Given the description of an element on the screen output the (x, y) to click on. 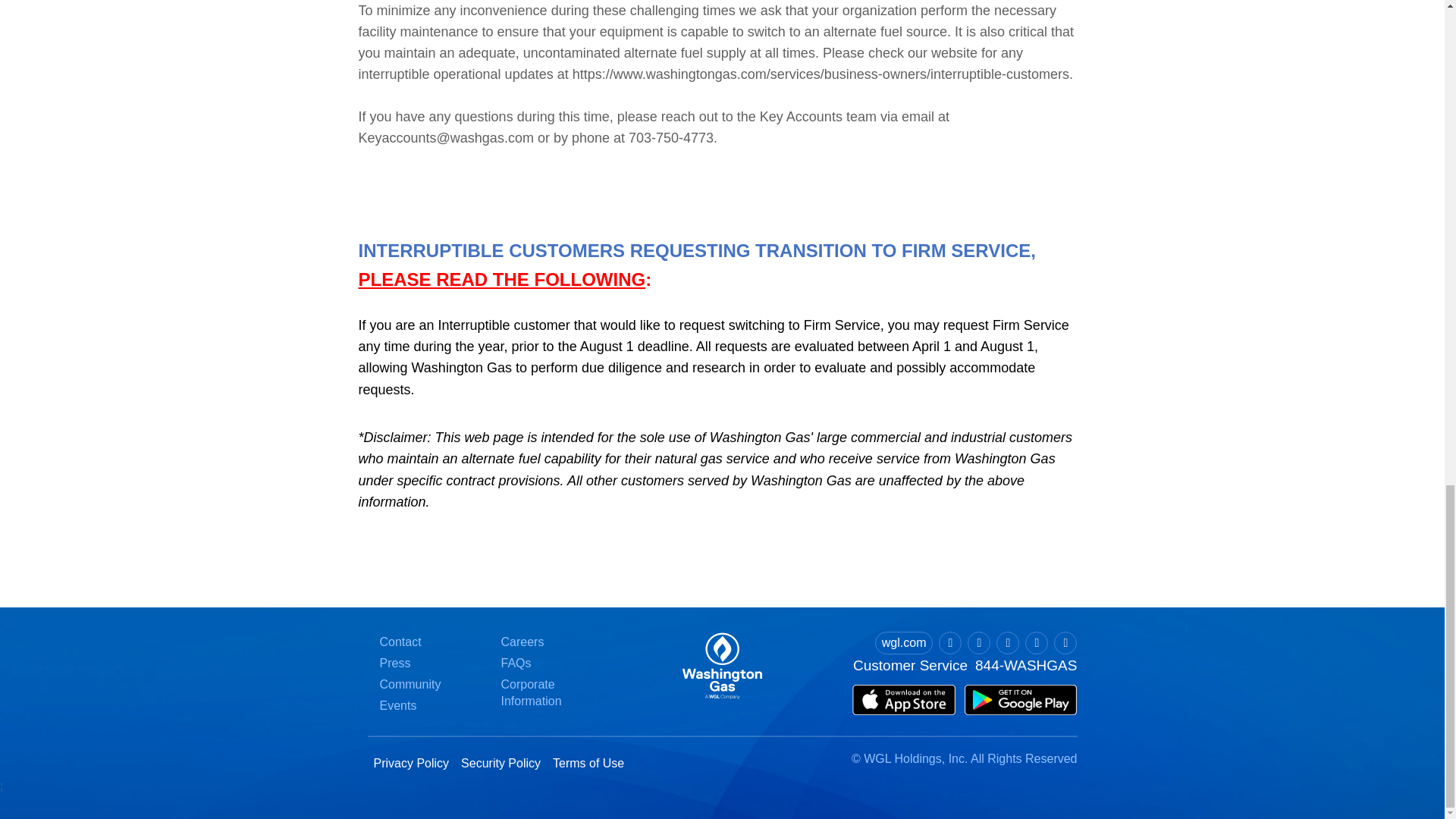
linkedin (1007, 642)
youtube-play (1036, 642)
facebook (979, 642)
instagram (1065, 642)
twitter (949, 642)
